Given the description of an element on the screen output the (x, y) to click on. 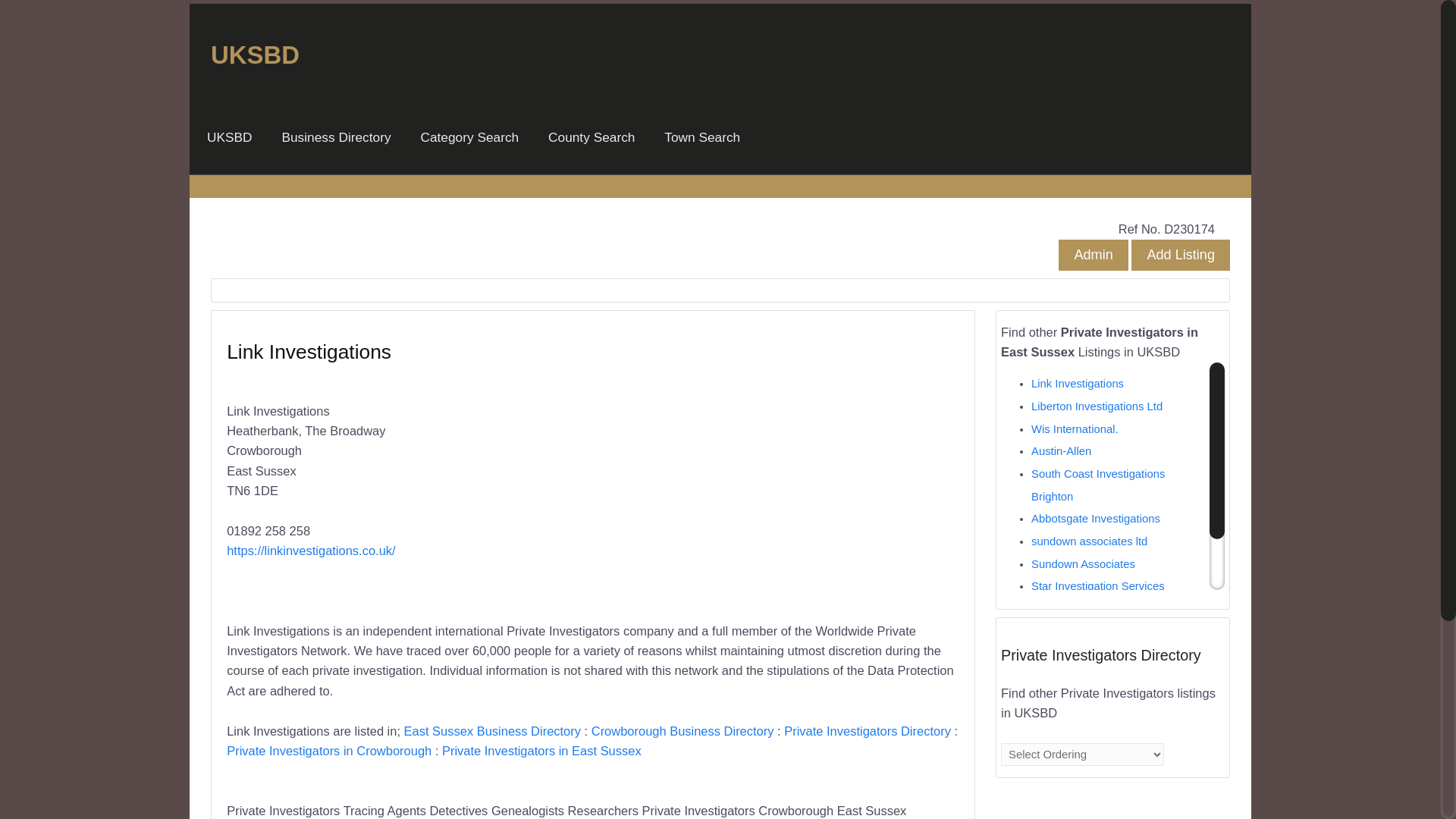
Private Investigators in Crowborough (328, 750)
Star Investigation Services (1097, 585)
Category Search (468, 137)
UKSBD (230, 137)
County Search (590, 137)
Austin-Allen (1060, 451)
Crowborough Business Directory (682, 730)
Private Investigators Directory (867, 730)
Add Listing (1180, 255)
Admin (1092, 254)
